Given the description of an element on the screen output the (x, y) to click on. 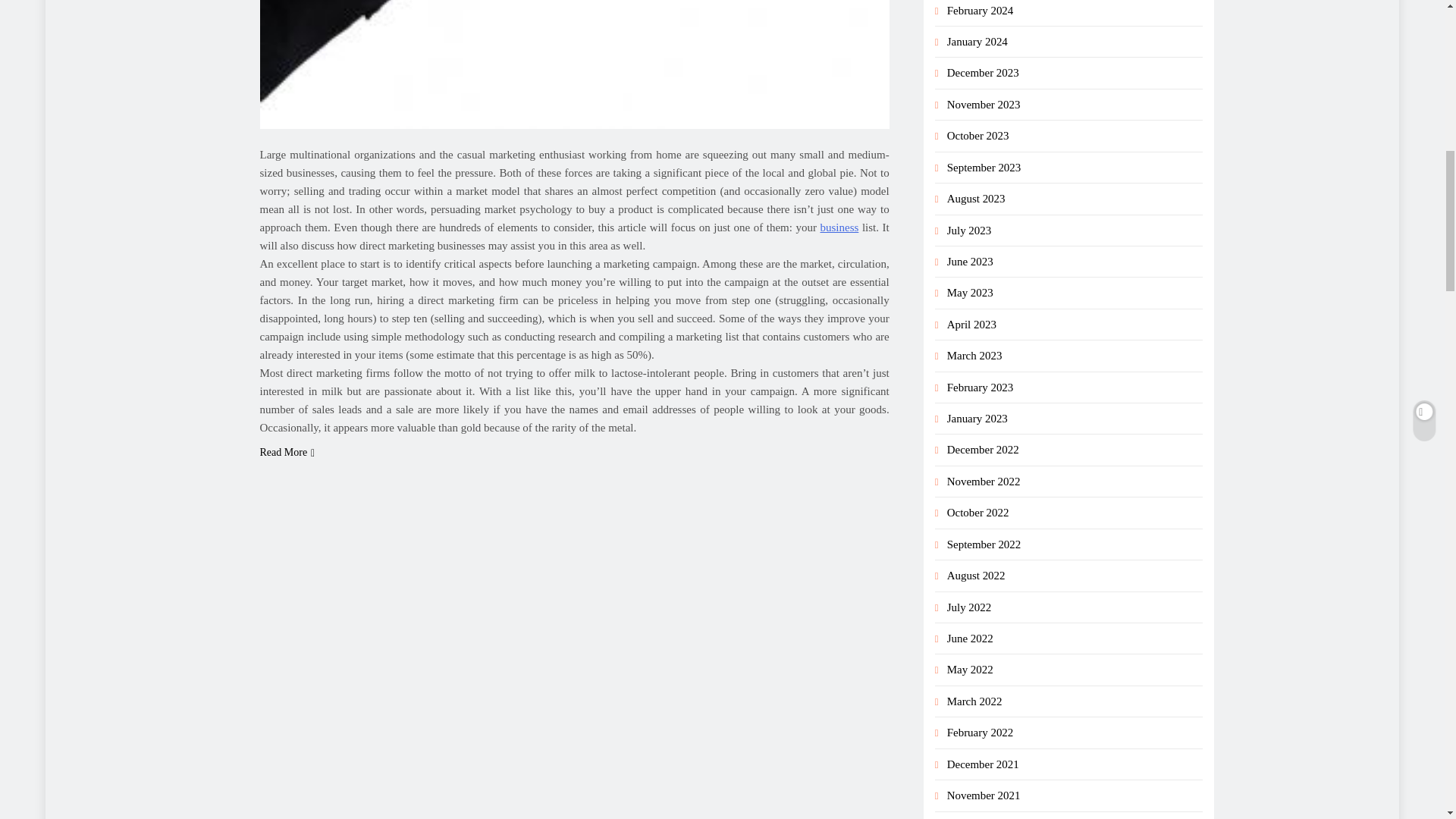
business (839, 227)
Read More (286, 452)
February 2024 (980, 10)
